Given the description of an element on the screen output the (x, y) to click on. 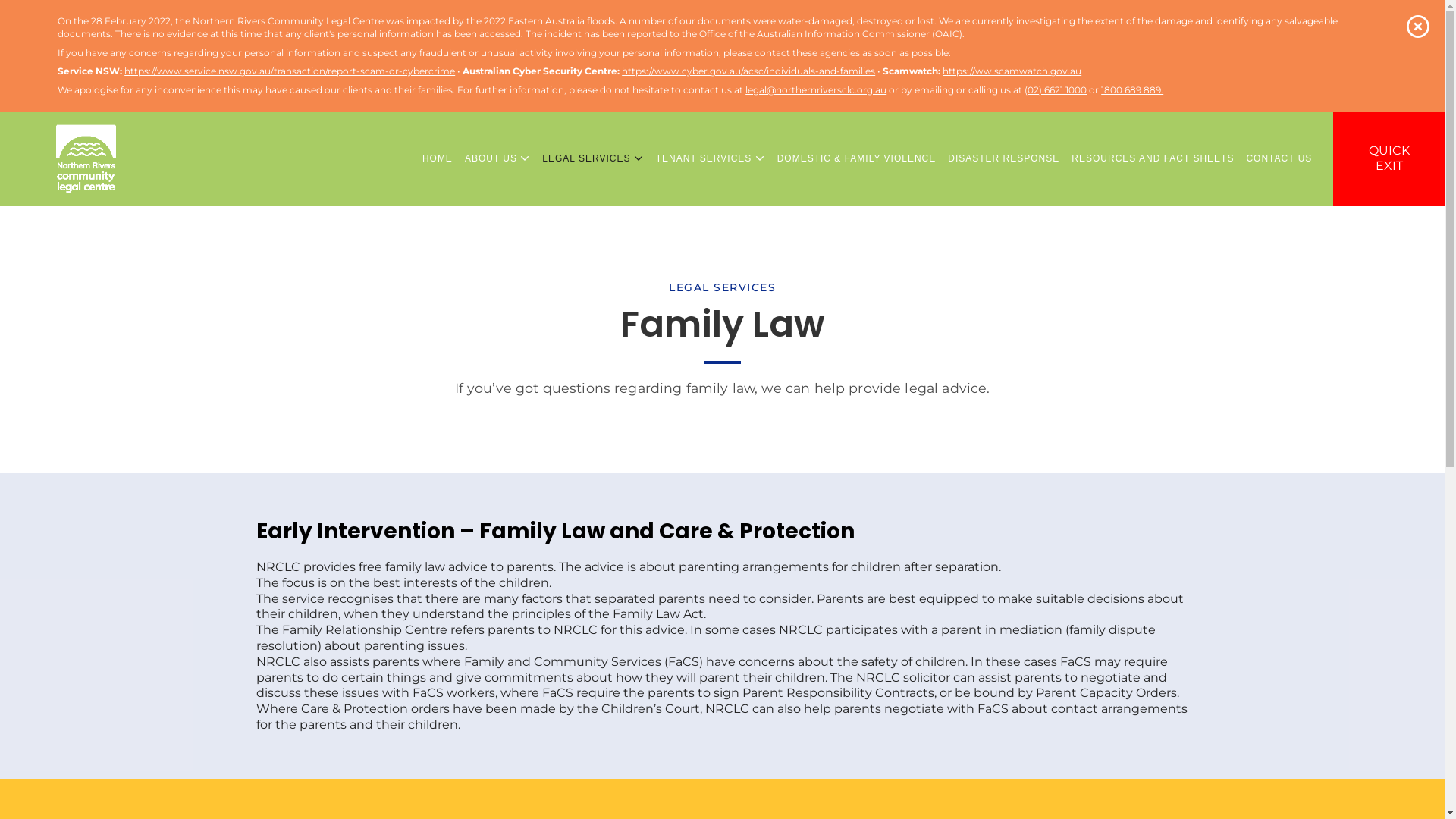
The Northern Rivers Community Legal Centre Element type: hover (85, 158)
QUICK EXIT Element type: text (1388, 158)
DOMESTIC & FAMILY VIOLENCE Element type: text (856, 158)
https://ww.scamwatch.gov.au Element type: text (1011, 70)
(02) 6621 1000 Element type: text (1055, 89)
RESOURCES AND FACT SHEETS Element type: text (1152, 158)
TENANT SERVICES Element type: text (710, 158)
https://www.cyber.gov.au/acsc/individuals-and-families Element type: text (748, 70)
legal@northernriversclc.org.au Element type: text (815, 89)
ABOUT US Element type: text (497, 158)
DISASTER RESPONSE Element type: text (1003, 158)
LEGAL SERVICES Element type: text (592, 158)
HOME Element type: text (437, 158)
1800 689 889. Element type: text (1132, 89)
CONTACT US Element type: text (1278, 158)
